Given the description of an element on the screen output the (x, y) to click on. 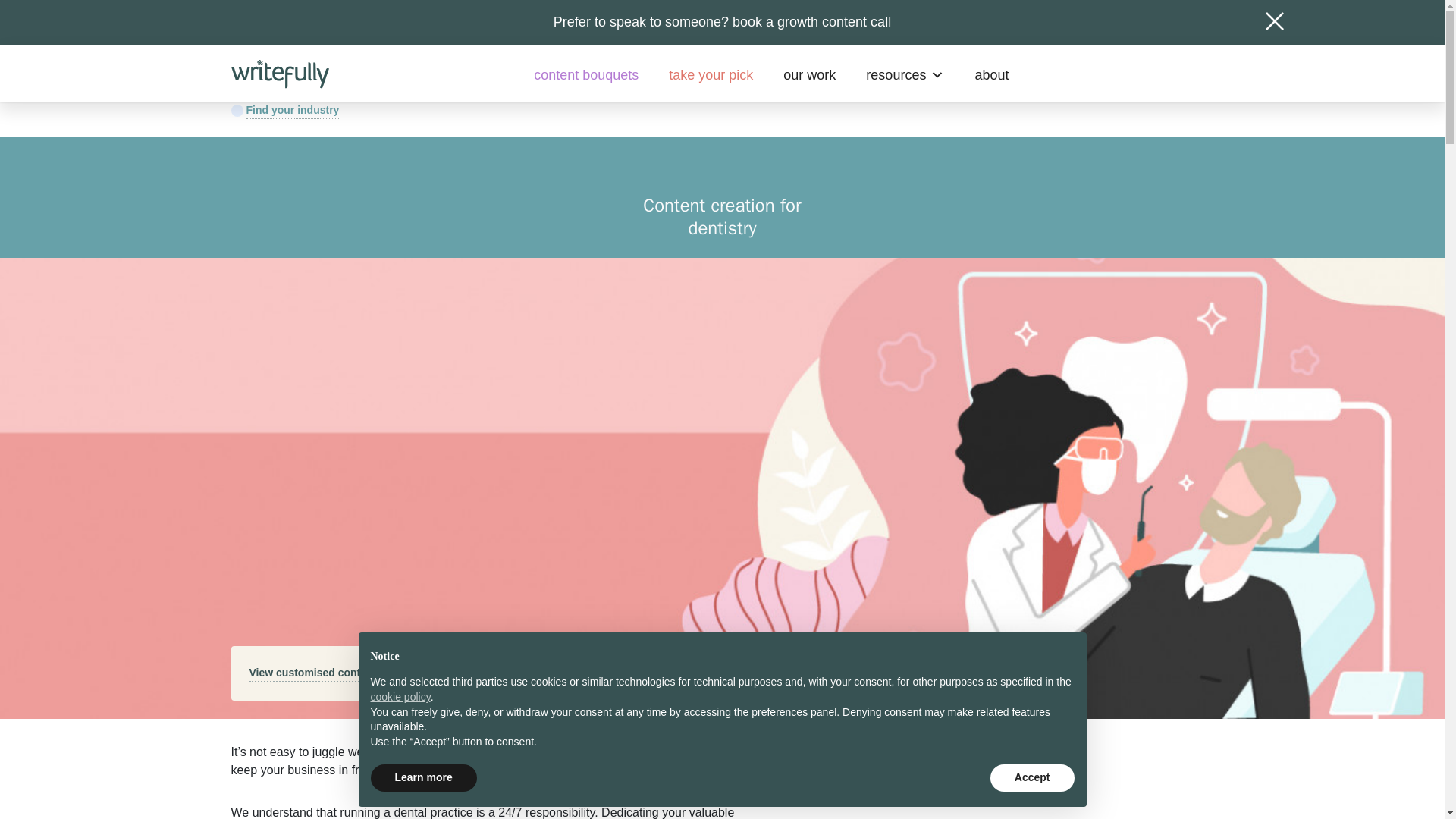
resources (904, 74)
take your pick (710, 74)
View customised content bundle (400, 673)
content bouquets (585, 74)
book a growth content call (811, 21)
about (991, 74)
Find your industry (284, 110)
our work (809, 74)
